Given the description of an element on the screen output the (x, y) to click on. 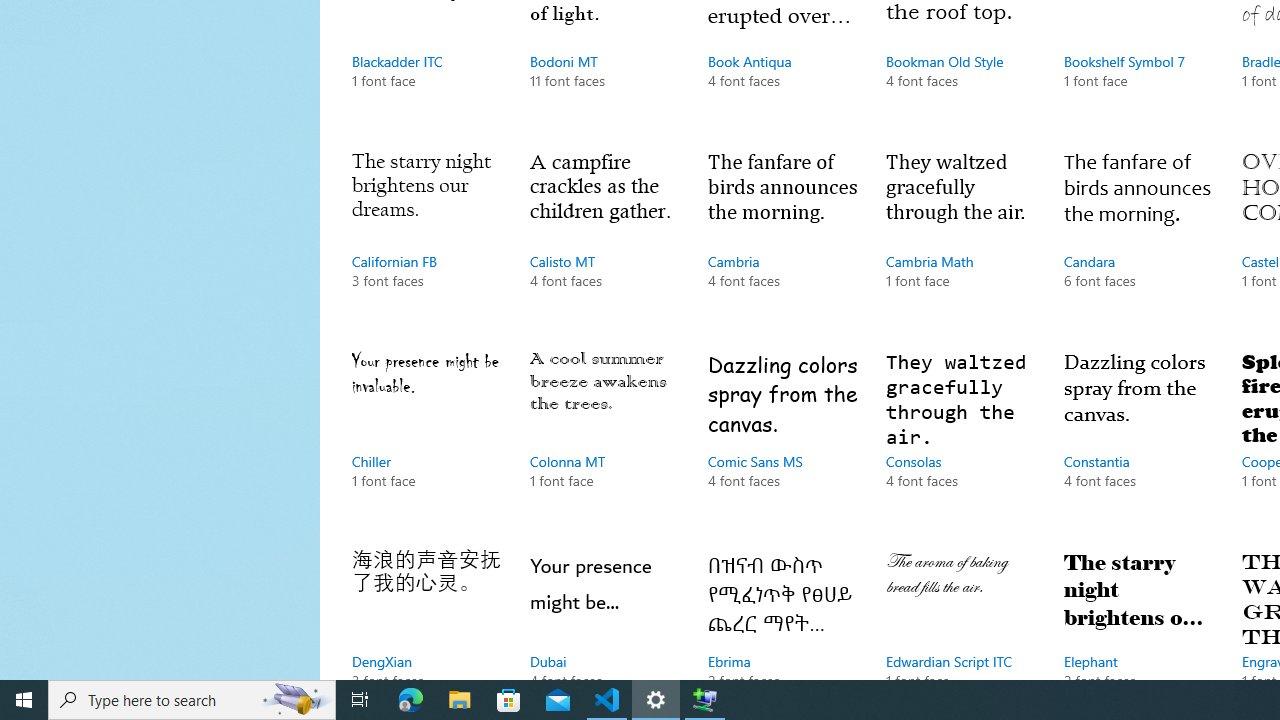
Californian FB, 3 font faces (426, 239)
Cambria Math, 1 font face (961, 239)
Extensible Wizards Host Process - 1 running window (704, 699)
Constantia, 4 font faces (1138, 439)
Ebrima, 2 font faces (783, 609)
Dubai, 4 font faces (604, 609)
Consolas, 4 font faces (961, 439)
Cambria, 4 font faces (783, 239)
